Given the description of an element on the screen output the (x, y) to click on. 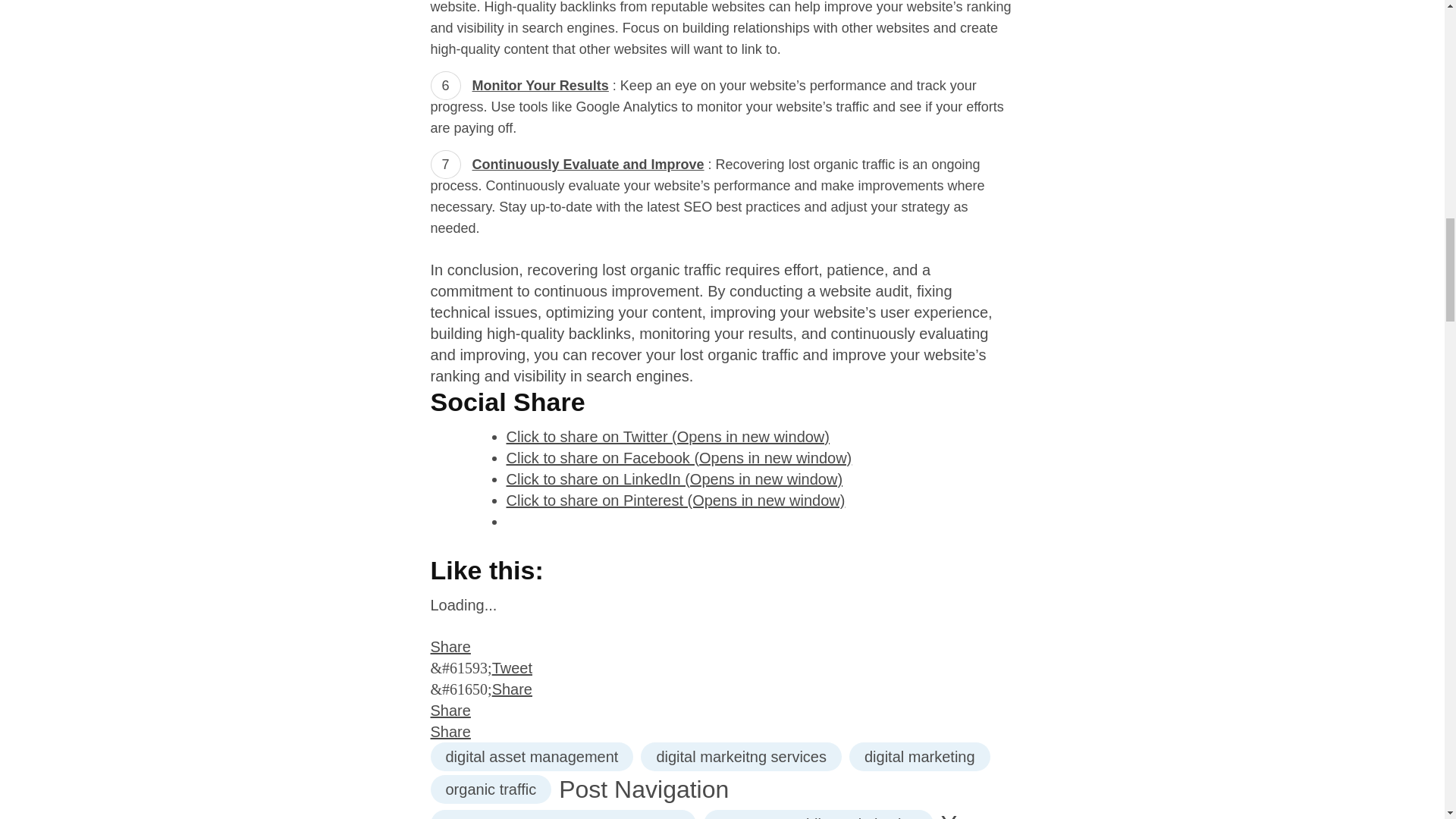
Click to share on Facebook (678, 457)
Share on Pinterest (722, 689)
Share on Twitter (722, 667)
Share on LinkedIn (722, 710)
Share on Facebook (722, 646)
Click to share on LinkedIn (674, 478)
Click to share on Twitter (667, 436)
Share on Digg (722, 731)
Click to share on Pinterest (675, 500)
